Given the description of an element on the screen output the (x, y) to click on. 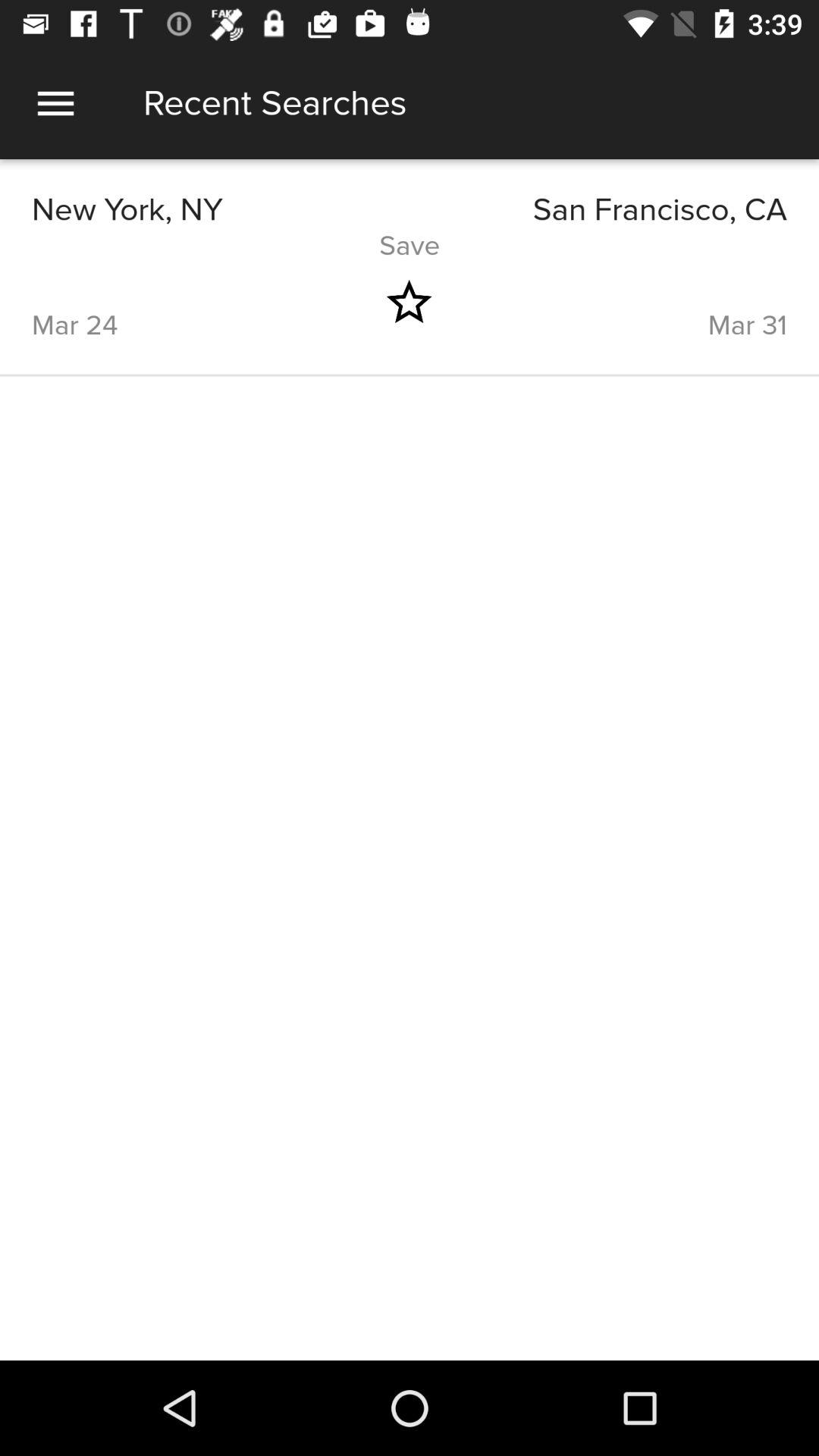
select icon below save item (408, 302)
